Given the description of an element on the screen output the (x, y) to click on. 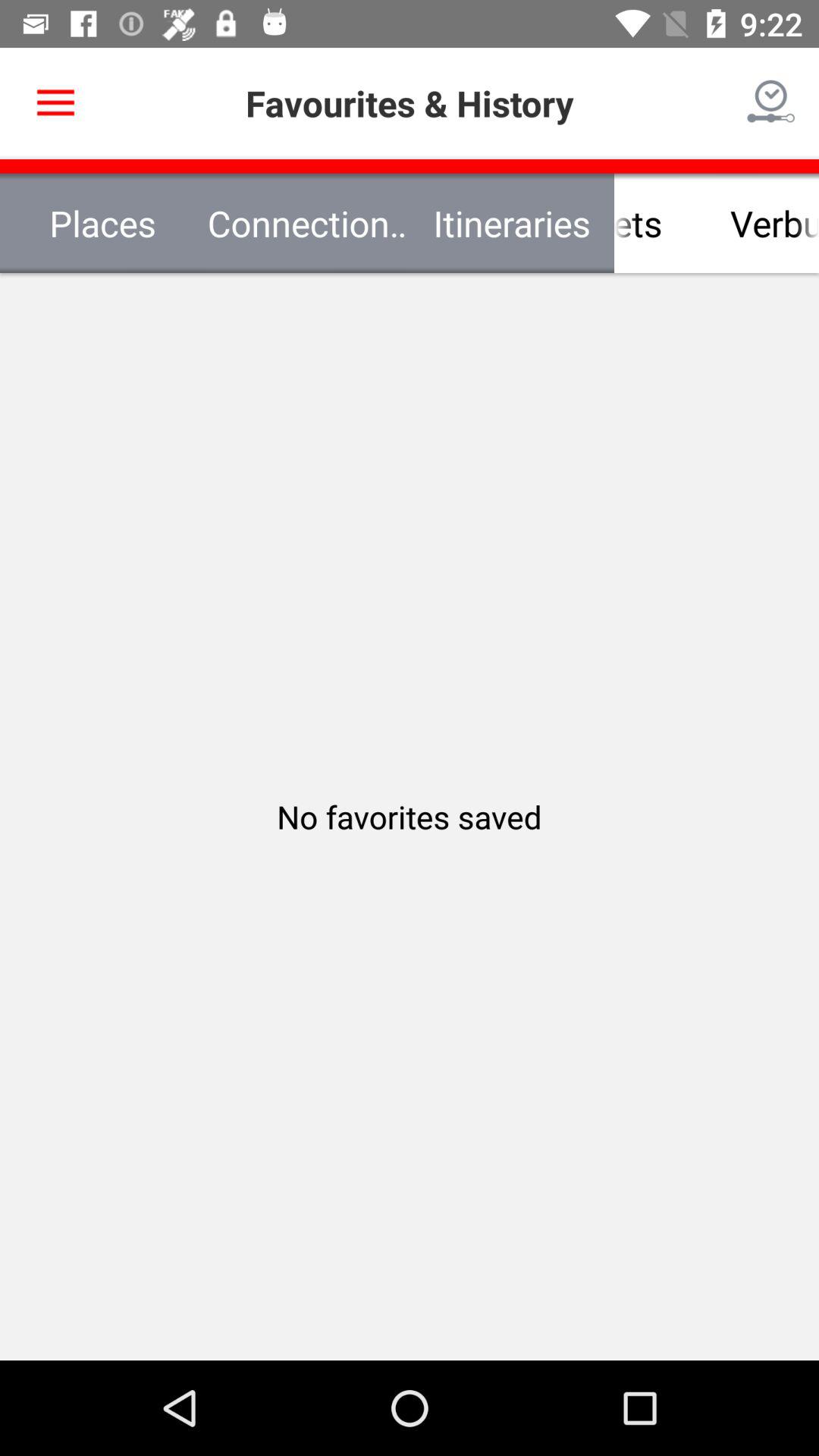
select verbundtickets item (716, 223)
